Given the description of an element on the screen output the (x, y) to click on. 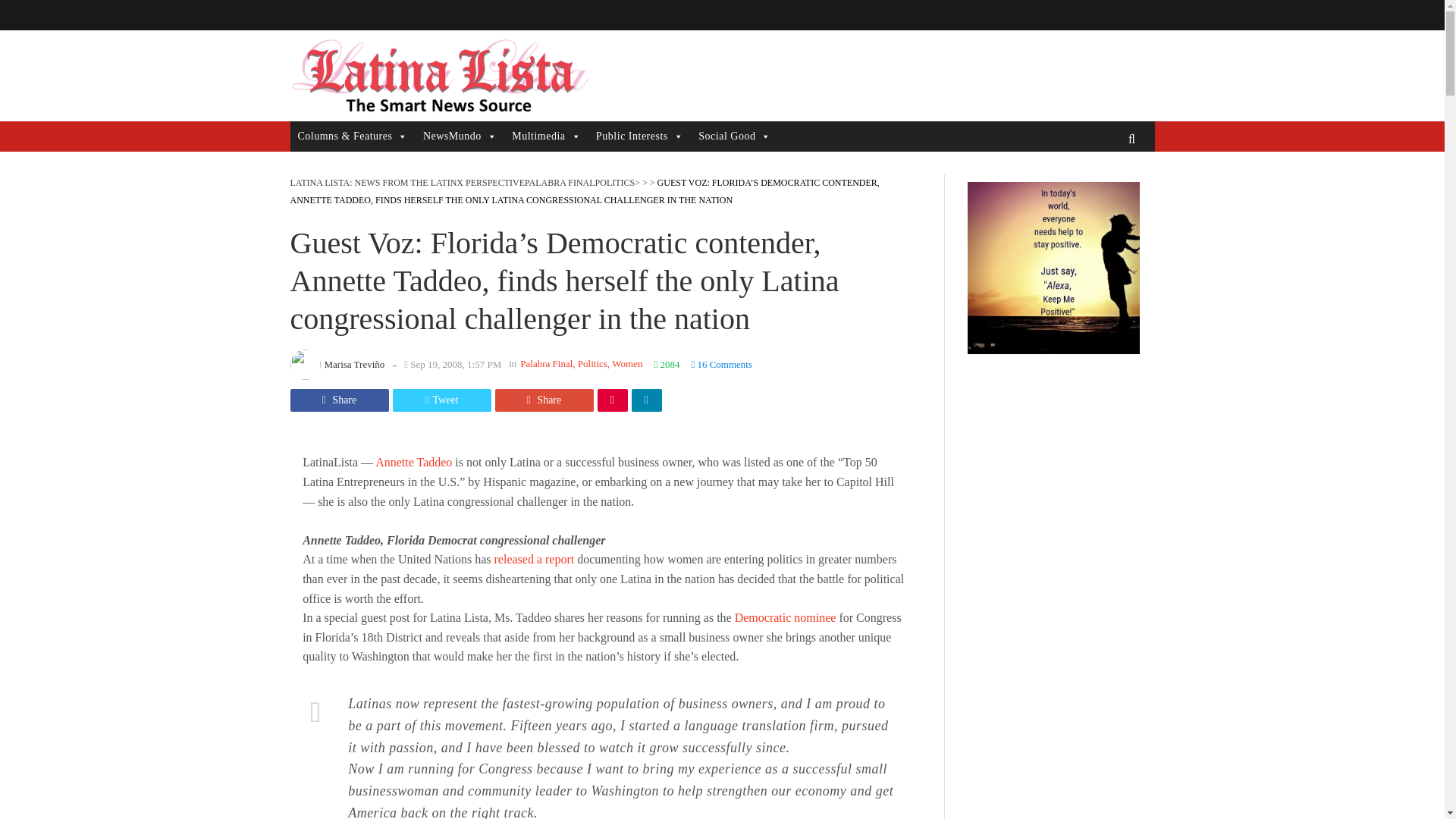
Latina Lista: News from the Latinx perspective (438, 75)
Go to Latina Lista: News from the Latinx perspective. (406, 182)
NewsMundo (458, 136)
Go to the Politics Category archives. (614, 182)
Go to the Palabra Final Category archives. (559, 182)
